Given the description of an element on the screen output the (x, y) to click on. 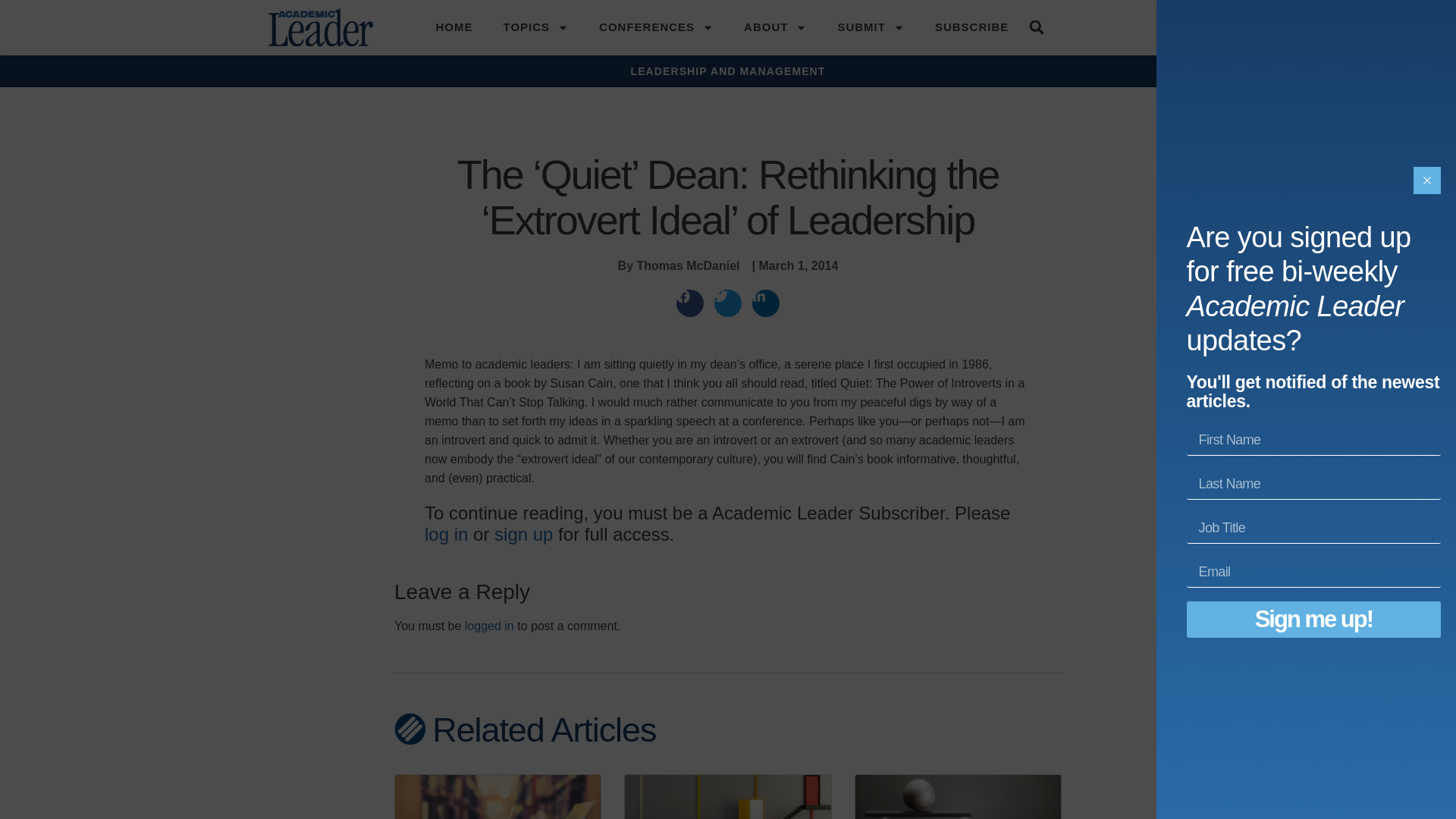
SUBMIT (871, 27)
TOPICS (536, 27)
HOME (453, 27)
ABOUT (775, 27)
SUBSCRIBE (971, 27)
CONFERENCES (656, 27)
